Given the description of an element on the screen output the (x, y) to click on. 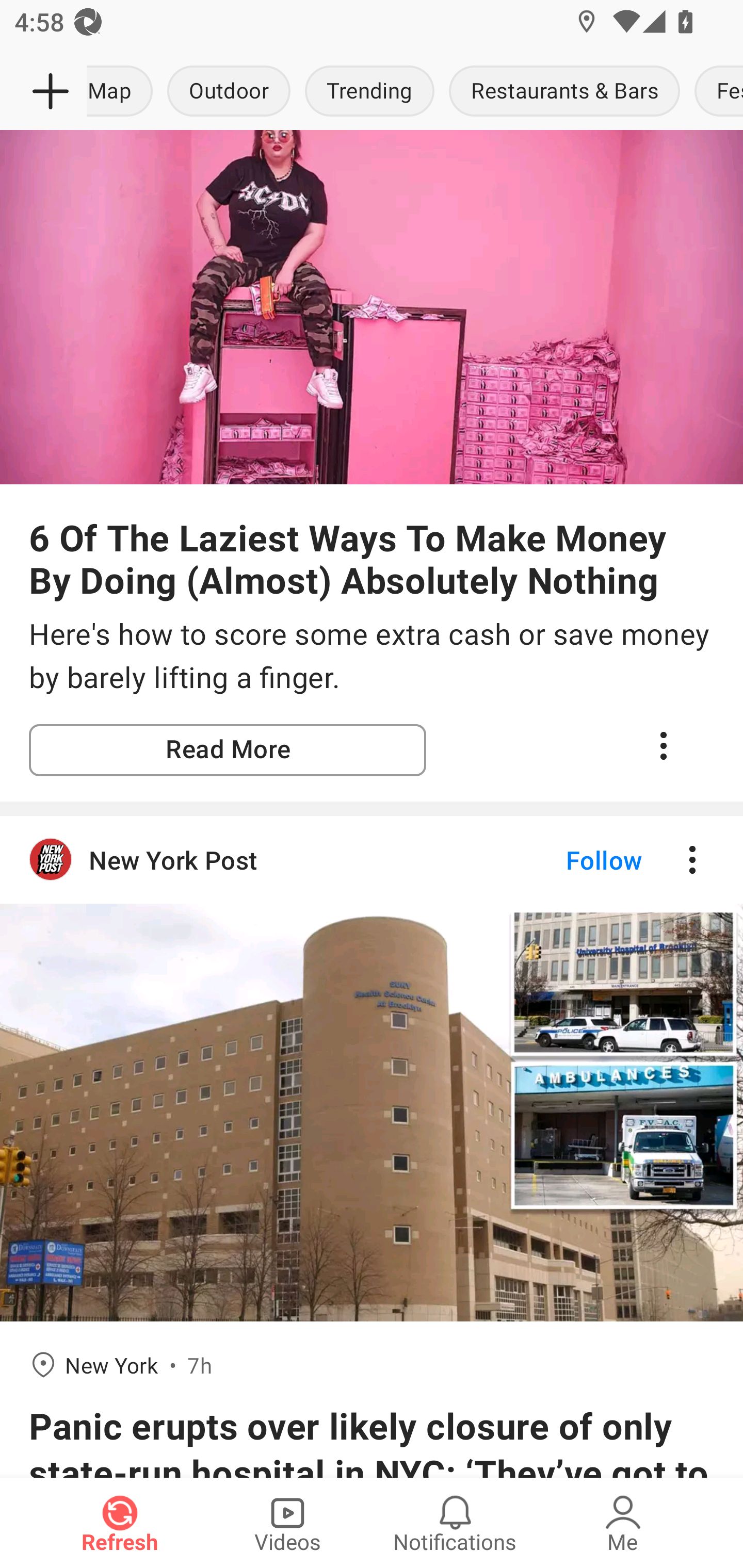
Crime Map (122, 91)
Outdoor (228, 91)
Trending (369, 91)
Restaurants & Bars (564, 91)
Read More (227, 750)
New York Post Follow (371, 859)
Follow (569, 859)
Videos (287, 1522)
Notifications (455, 1522)
Me (622, 1522)
